Given the description of an element on the screen output the (x, y) to click on. 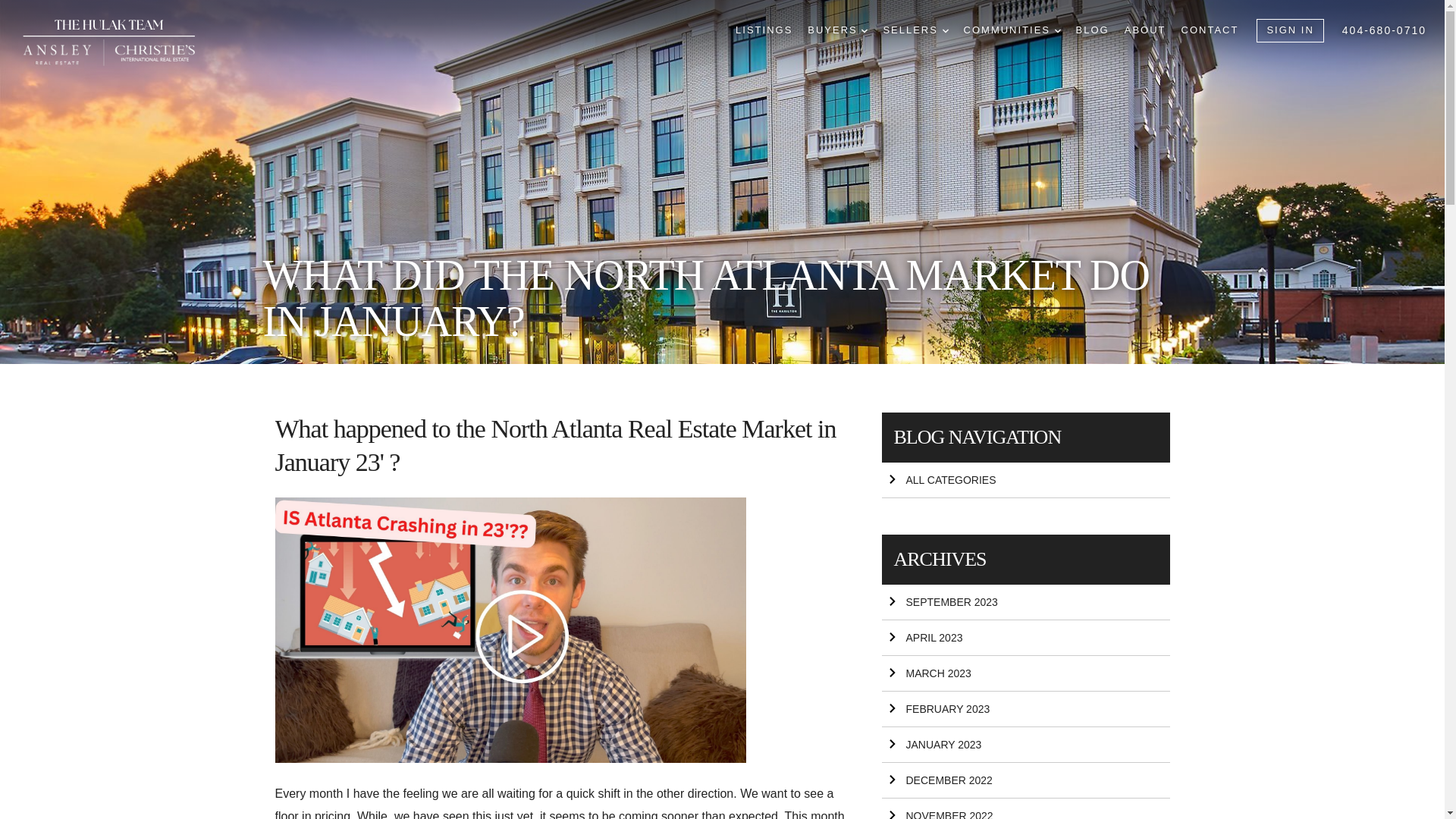
DROPDOWN ARROW (1057, 30)
404-680-0710 (1384, 29)
ABOUT (1145, 30)
BLOG (1092, 30)
SELLERS DROPDOWN ARROW (914, 30)
CONTACT (1209, 30)
SIGN IN (1289, 30)
DROPDOWN ARROW (945, 30)
DROPDOWN ARROW (864, 30)
BUYERS DROPDOWN ARROW (837, 30)
